Given the description of an element on the screen output the (x, y) to click on. 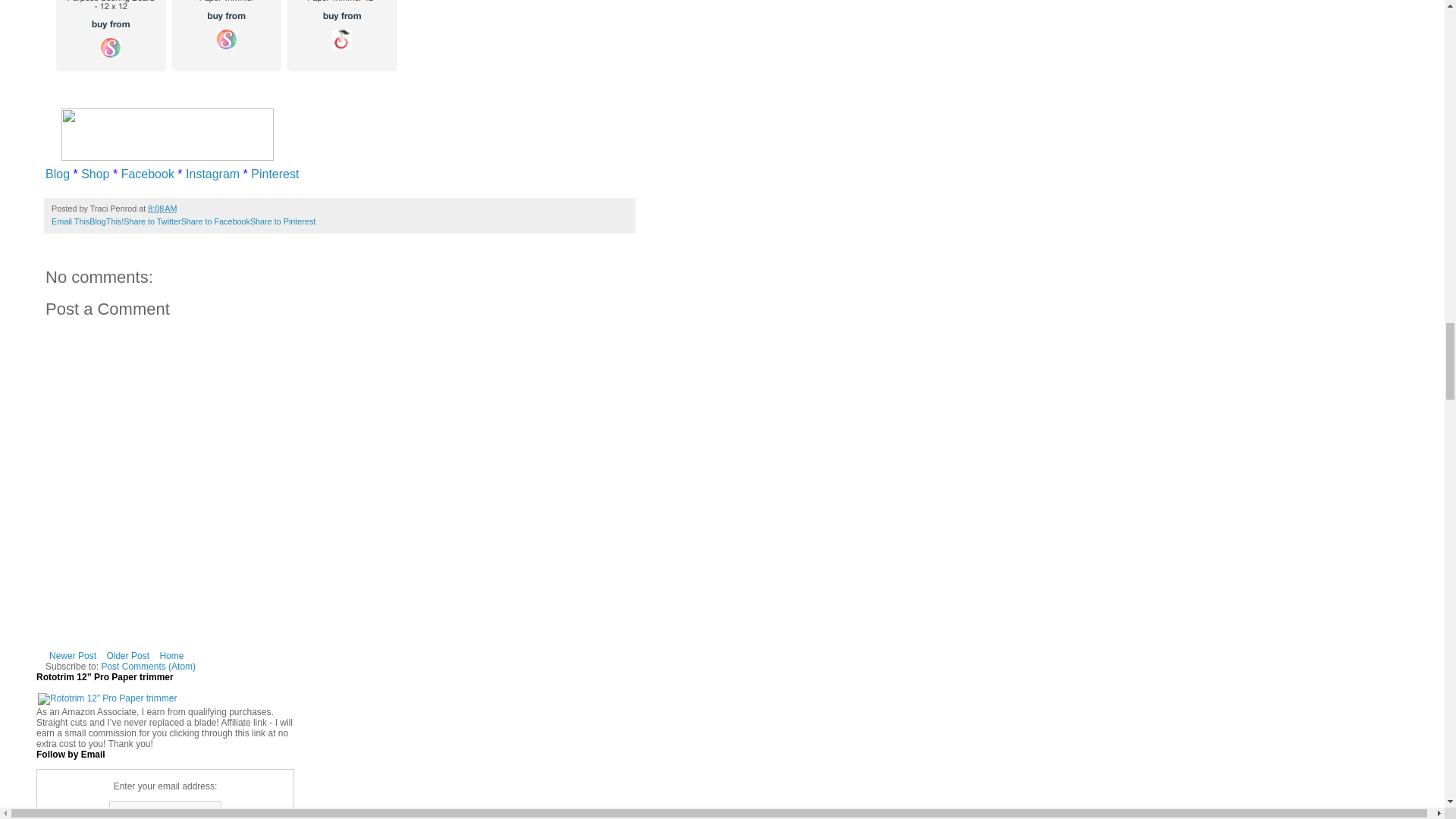
Shop (94, 173)
Share to Facebook (215, 221)
Instagram (213, 173)
Share to Twitter (151, 221)
permanent link (162, 207)
Pinterest (274, 173)
Share to Facebook (215, 221)
Email This (69, 221)
Home (171, 656)
BlogThis! (105, 221)
Share to Pinterest (282, 221)
Newer Post (72, 656)
Blog (57, 173)
Older Post (126, 656)
